Given the description of an element on the screen output the (x, y) to click on. 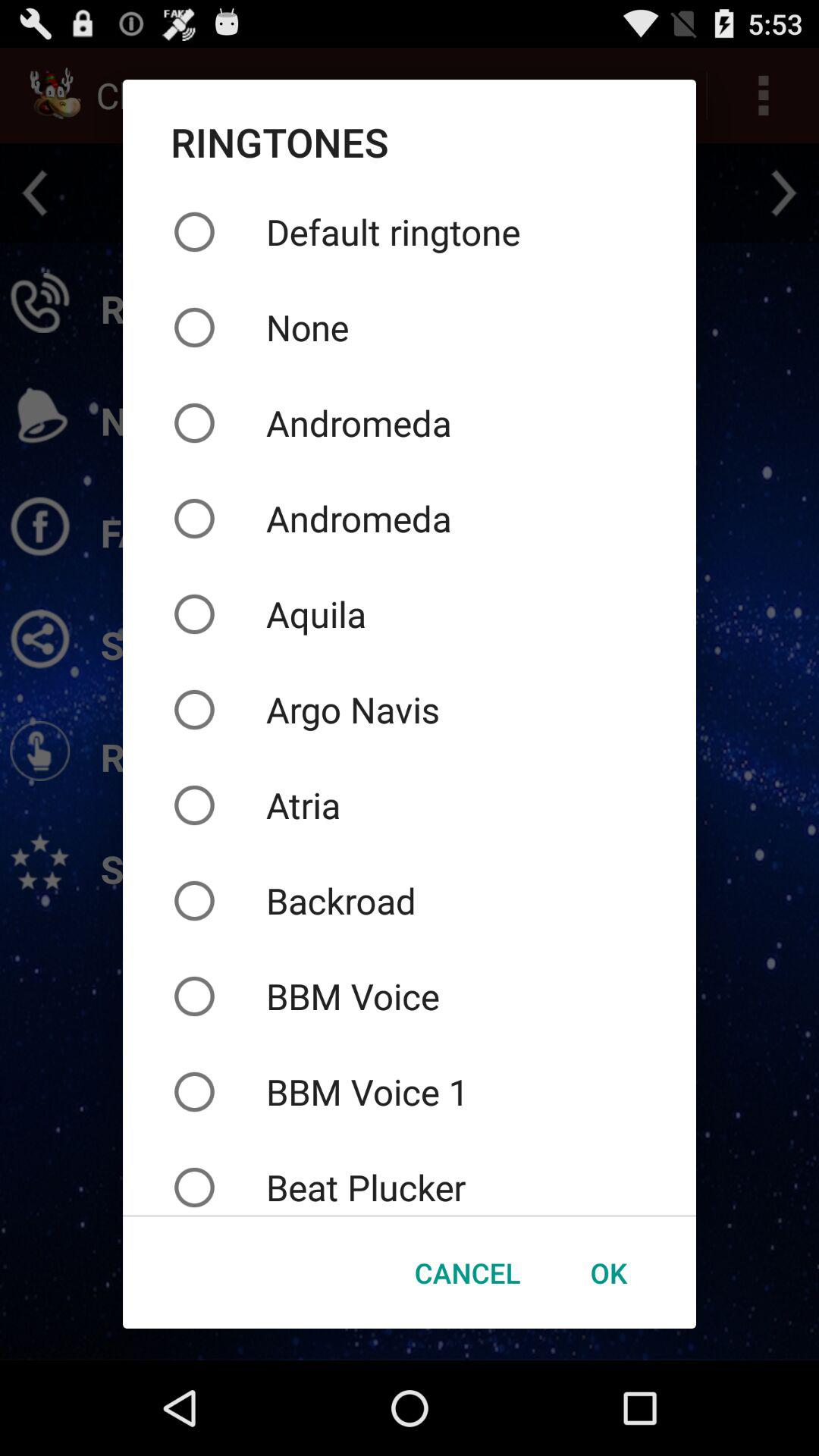
turn on the ok at the bottom right corner (608, 1272)
